Given the description of an element on the screen output the (x, y) to click on. 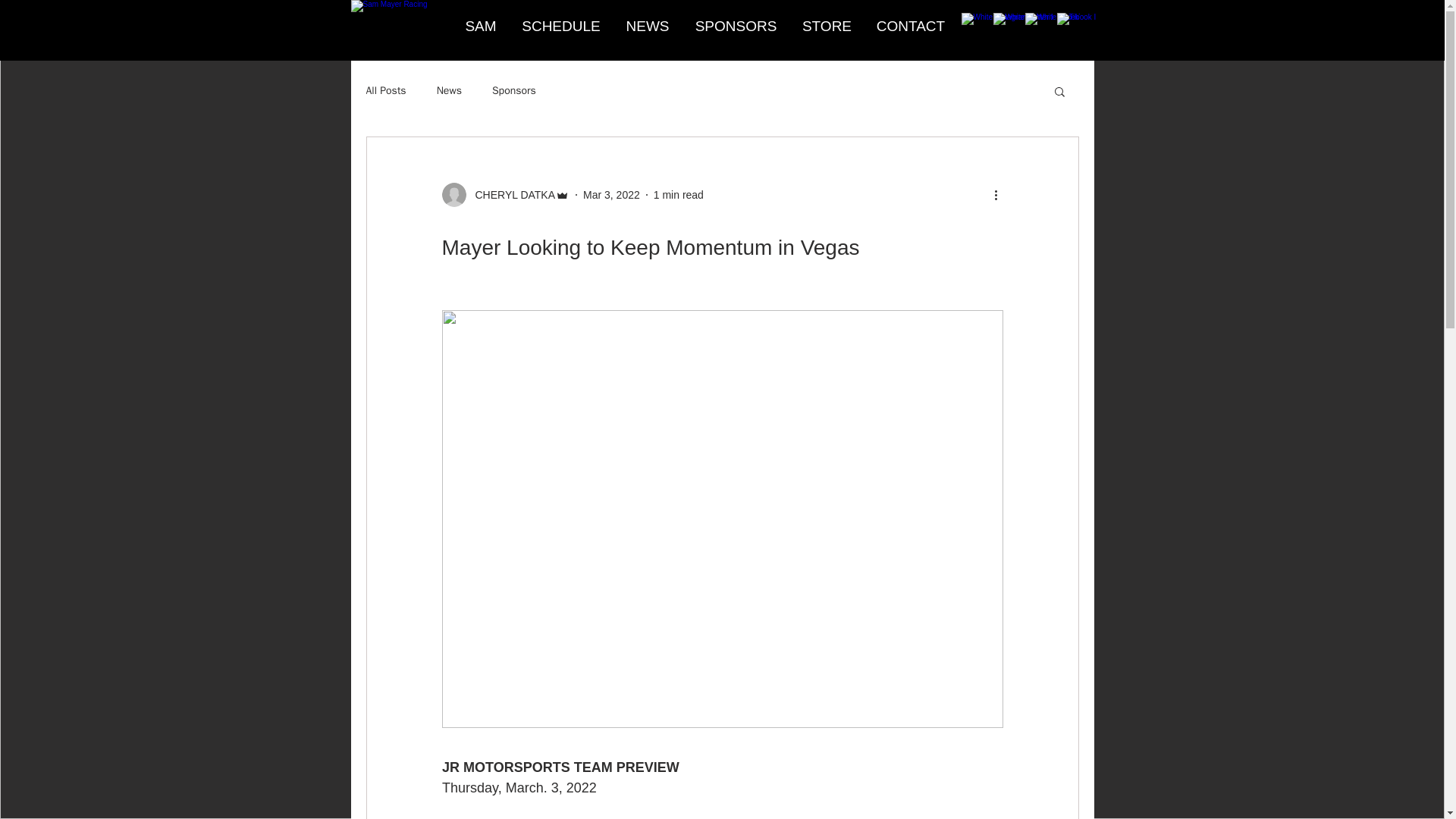
NEWS (646, 26)
CHERYL DATKA (509, 194)
Mar 3, 2022 (611, 193)
1 min read (678, 193)
STORE (827, 26)
All Posts (385, 90)
SPONSORS (736, 26)
CHERYL DATKA (505, 194)
Sponsors (513, 90)
SCHEDULE (560, 26)
